Given the description of an element on the screen output the (x, y) to click on. 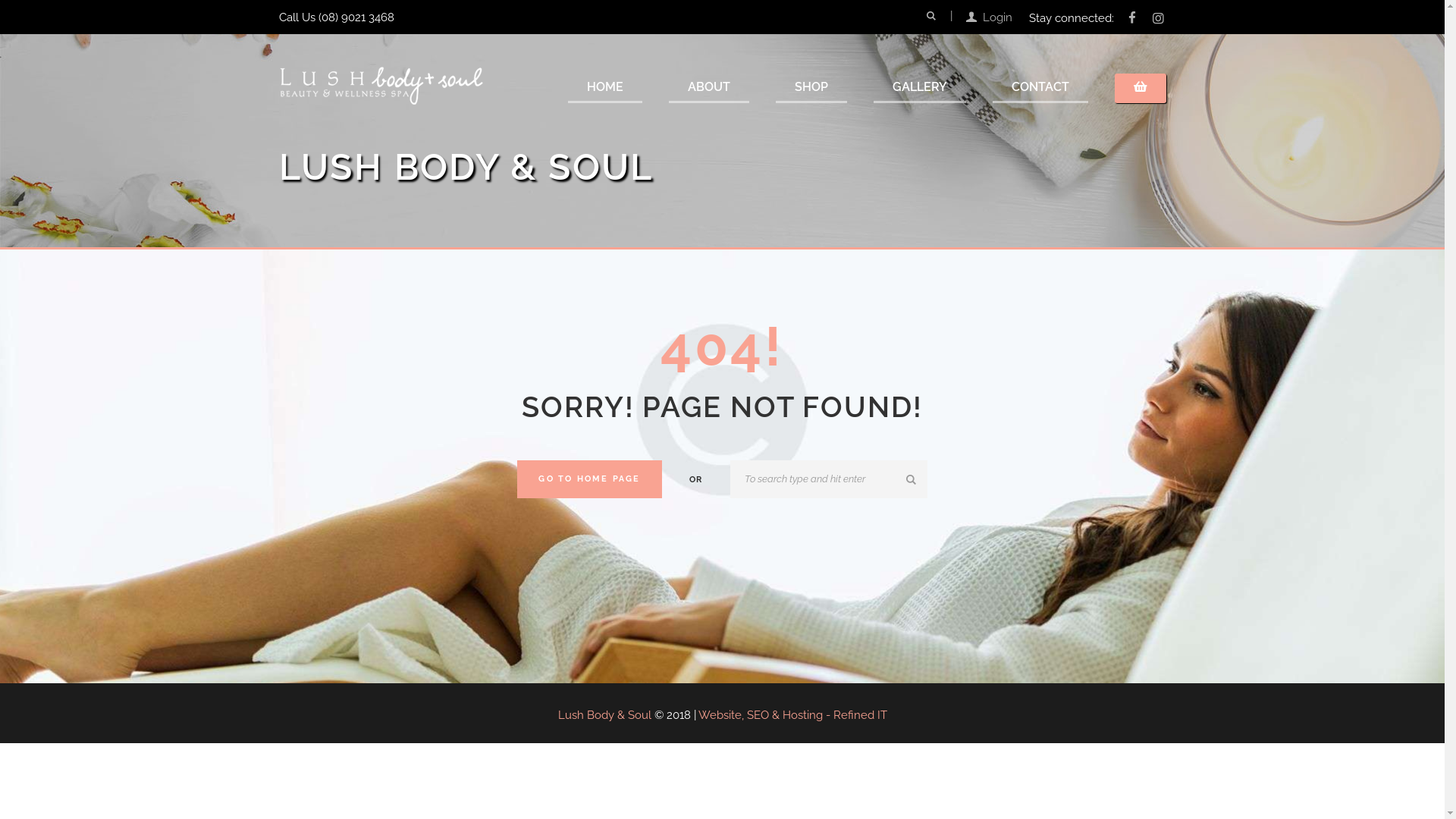
Lush Body & Soul Element type: text (604, 714)
Website, SEO & Hosting - Refined IT Element type: text (791, 714)
HOME Element type: text (604, 88)
ABOUT Element type: text (708, 88)
GALLERY Element type: text (919, 88)
SHOP Element type: text (811, 88)
(08) 9021 3468 Element type: text (356, 17)
Login Element type: text (989, 17)
Open search Element type: hover (930, 15)
GO TO HOME PAGE Element type: text (589, 479)
CONTACT Element type: text (1040, 88)
Start search Element type: hover (912, 479)
